Given the description of an element on the screen output the (x, y) to click on. 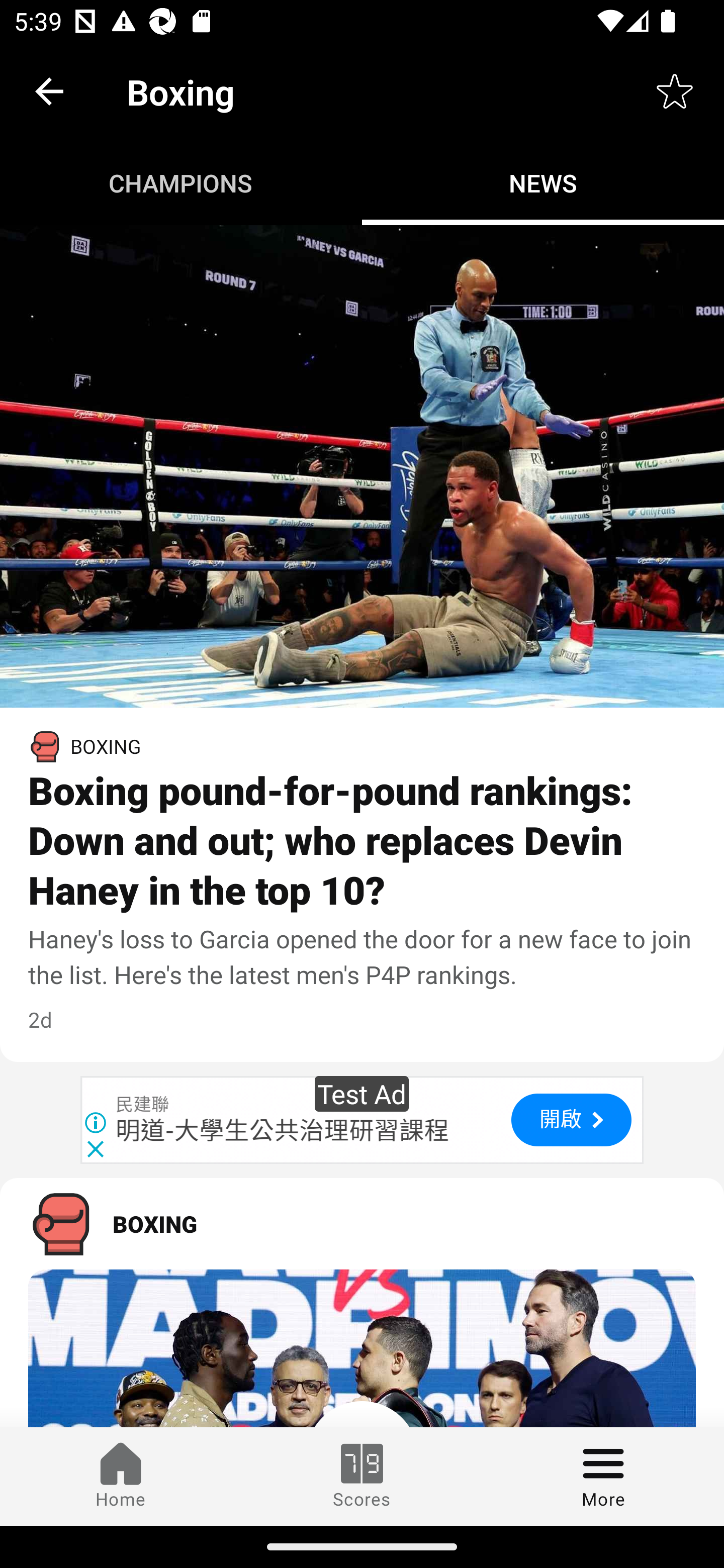
back.button (49, 90)
Favorite toggle (674, 90)
Champions CHAMPIONS (181, 183)
民建聯 (142, 1104)
開啟 (570, 1119)
明道-大學生公共治理研習課程 (282, 1130)
BOXING (362, 1223)
Home (120, 1475)
Scores (361, 1475)
